Given the description of an element on the screen output the (x, y) to click on. 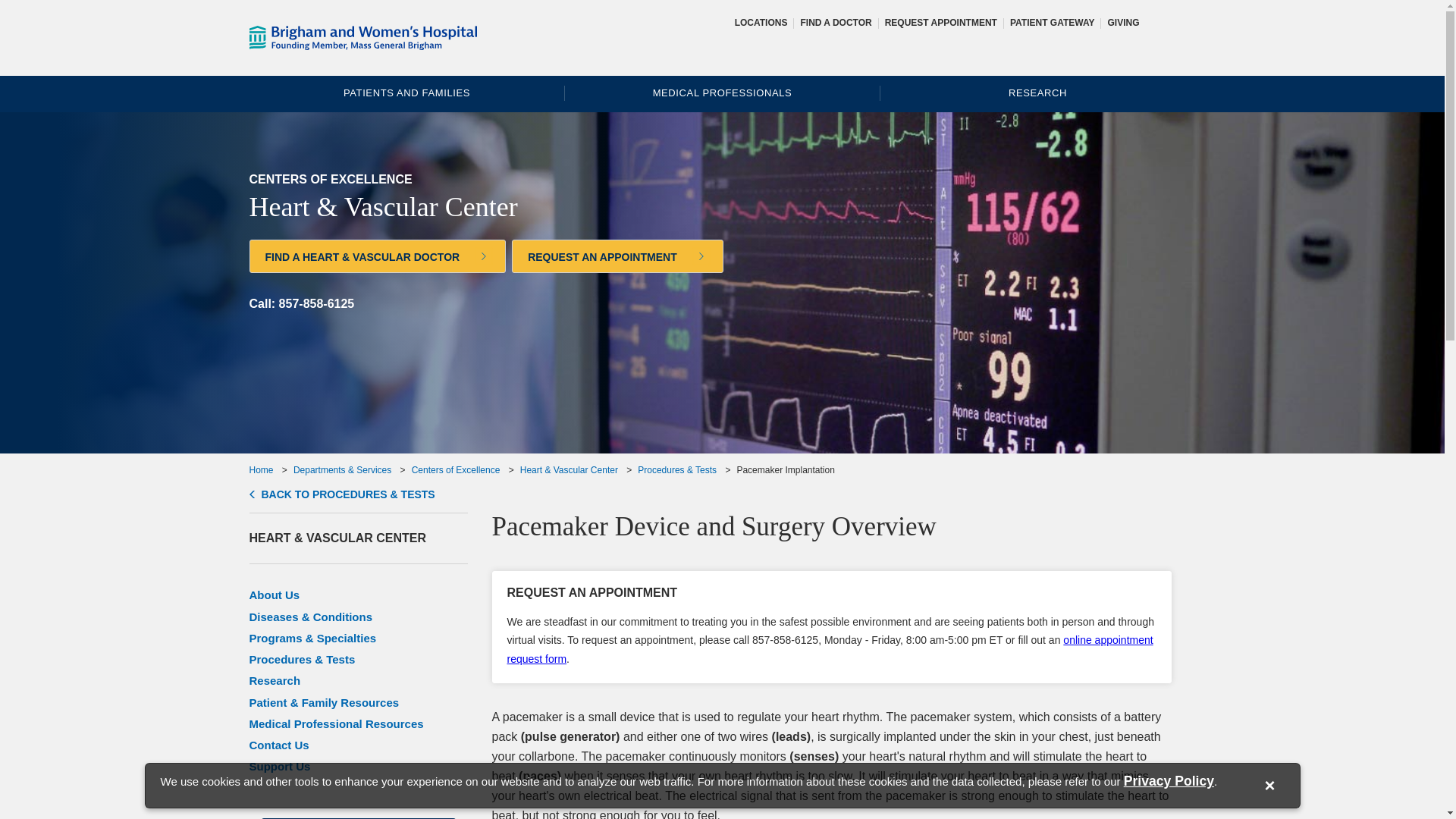
REQUEST AN APPOINTMENT (831, 592)
Patient Gateway (1052, 22)
REQUEST APPOINTMENT (941, 22)
Information for Patients and Families (406, 93)
online appointment request form (829, 649)
Centers of Excellence (456, 470)
Centers of Excellence (456, 470)
PATIENT GATEWAY (1052, 22)
